Given the description of an element on the screen output the (x, y) to click on. 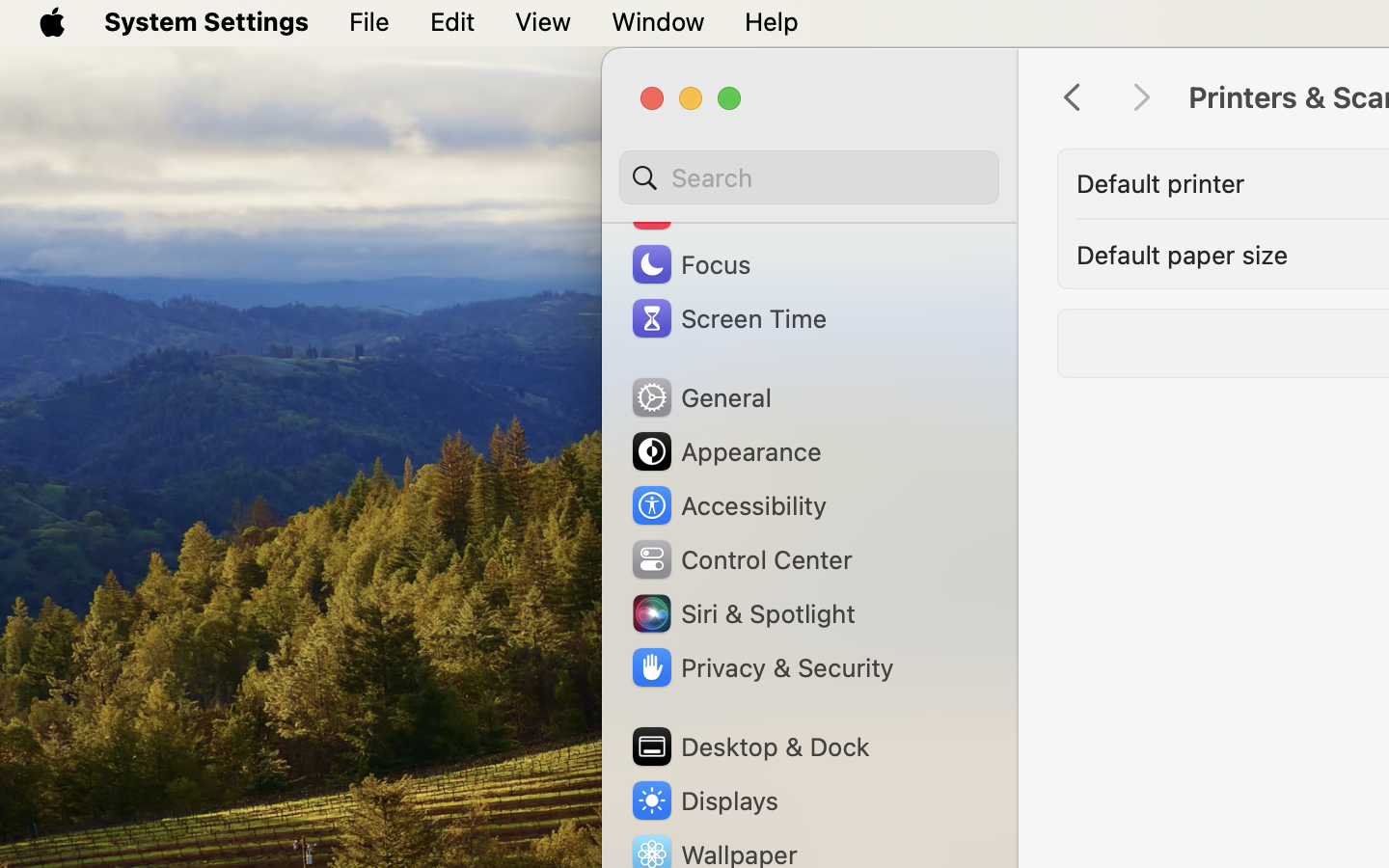
Displays Element type: AXStaticText (703, 800)
Accessibility Element type: AXStaticText (727, 505)
Desktop & Dock Element type: AXStaticText (749, 746)
Default printer Element type: AXStaticText (1160, 182)
Focus Element type: AXStaticText (689, 264)
